Given the description of an element on the screen output the (x, y) to click on. 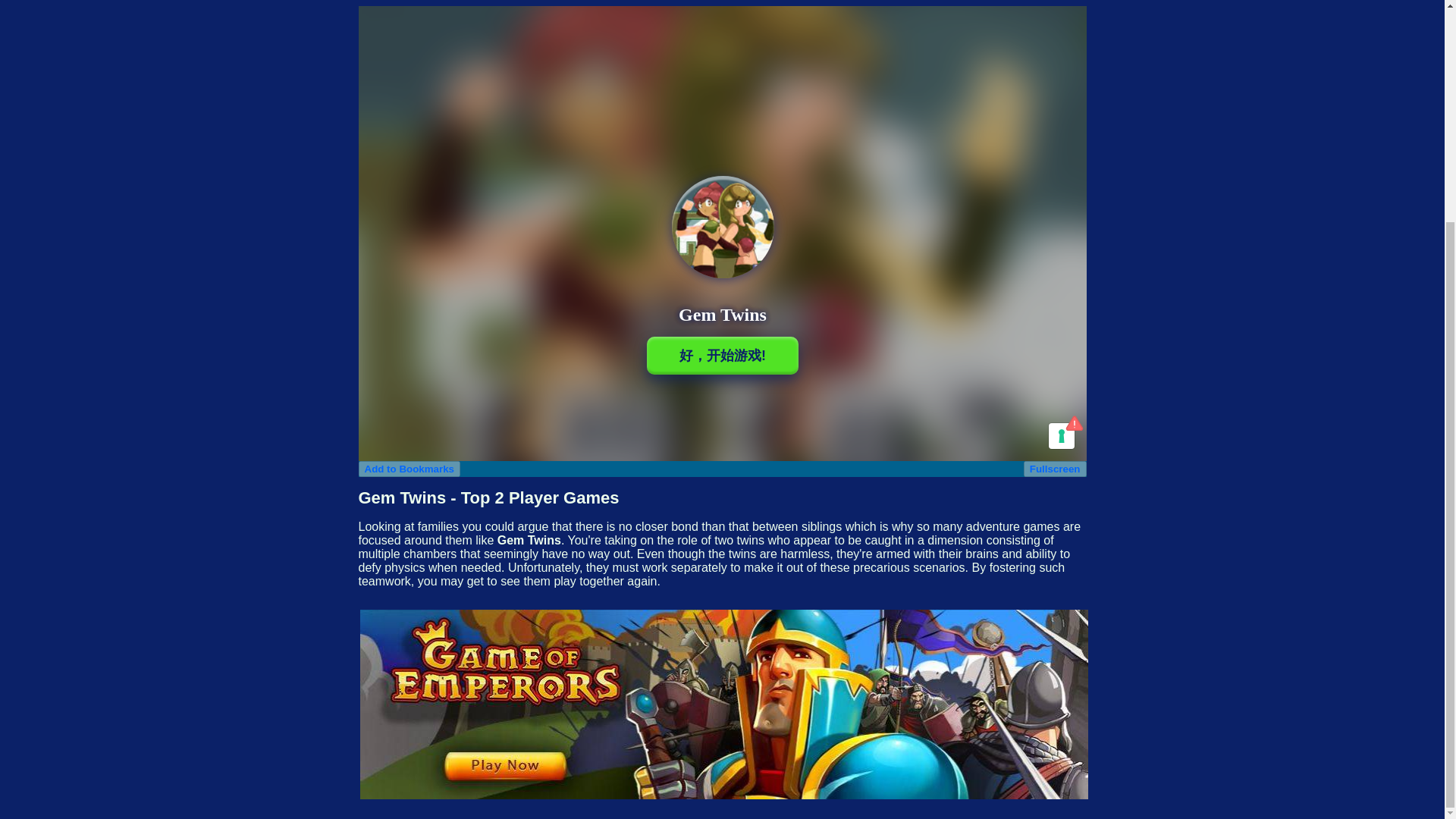
Fullscreen (1054, 468)
Add to Bookmarks (409, 468)
